Given the description of an element on the screen output the (x, y) to click on. 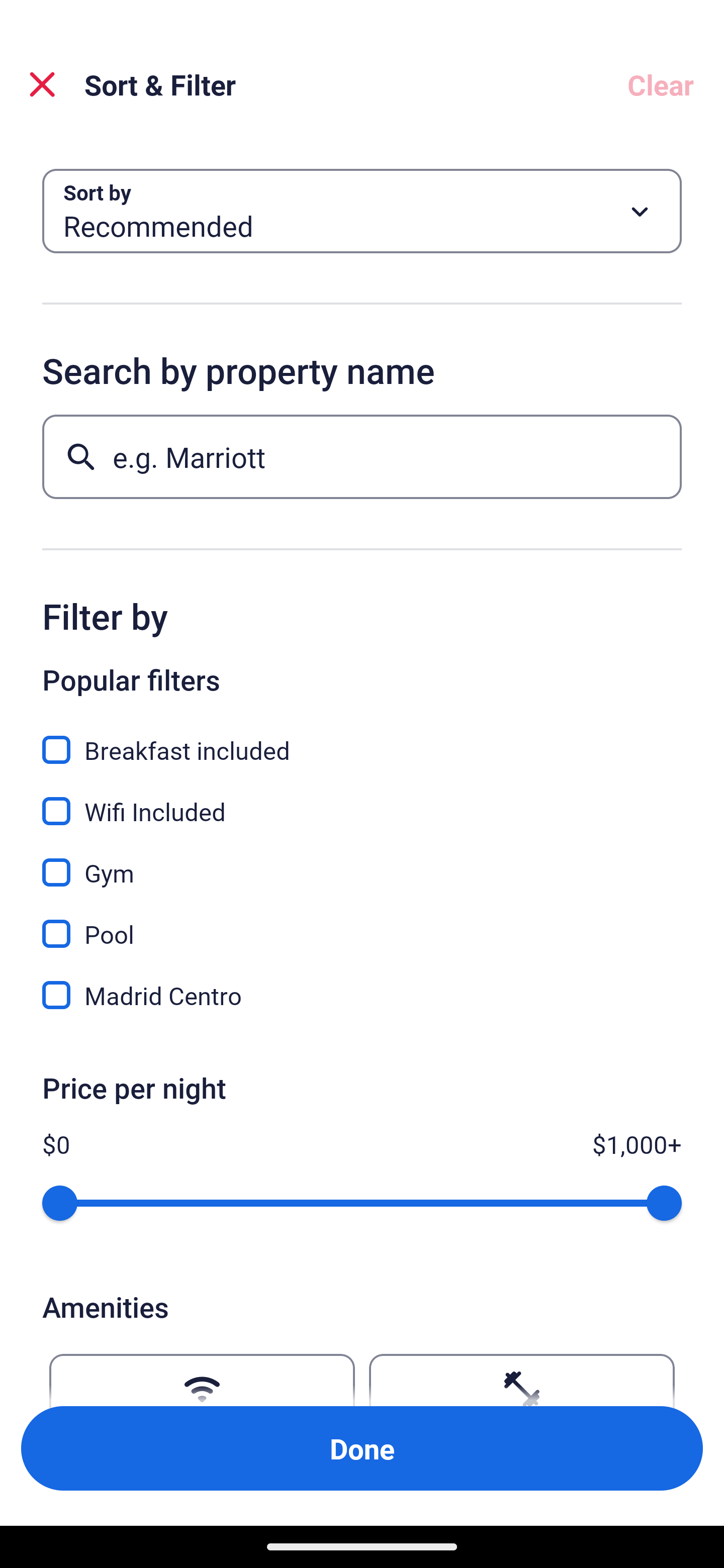
Close Sort and Filter (42, 84)
Clear (660, 84)
Sort by Button Recommended (361, 211)
e.g. Marriott Button (361, 455)
Breakfast included, Breakfast included (361, 738)
Wifi Included, Wifi Included (361, 800)
Gym, Gym (361, 861)
Pool, Pool (361, 922)
Madrid Centro, Madrid Centro (361, 995)
Apply and close Sort and Filter Done (361, 1448)
